Given the description of an element on the screen output the (x, y) to click on. 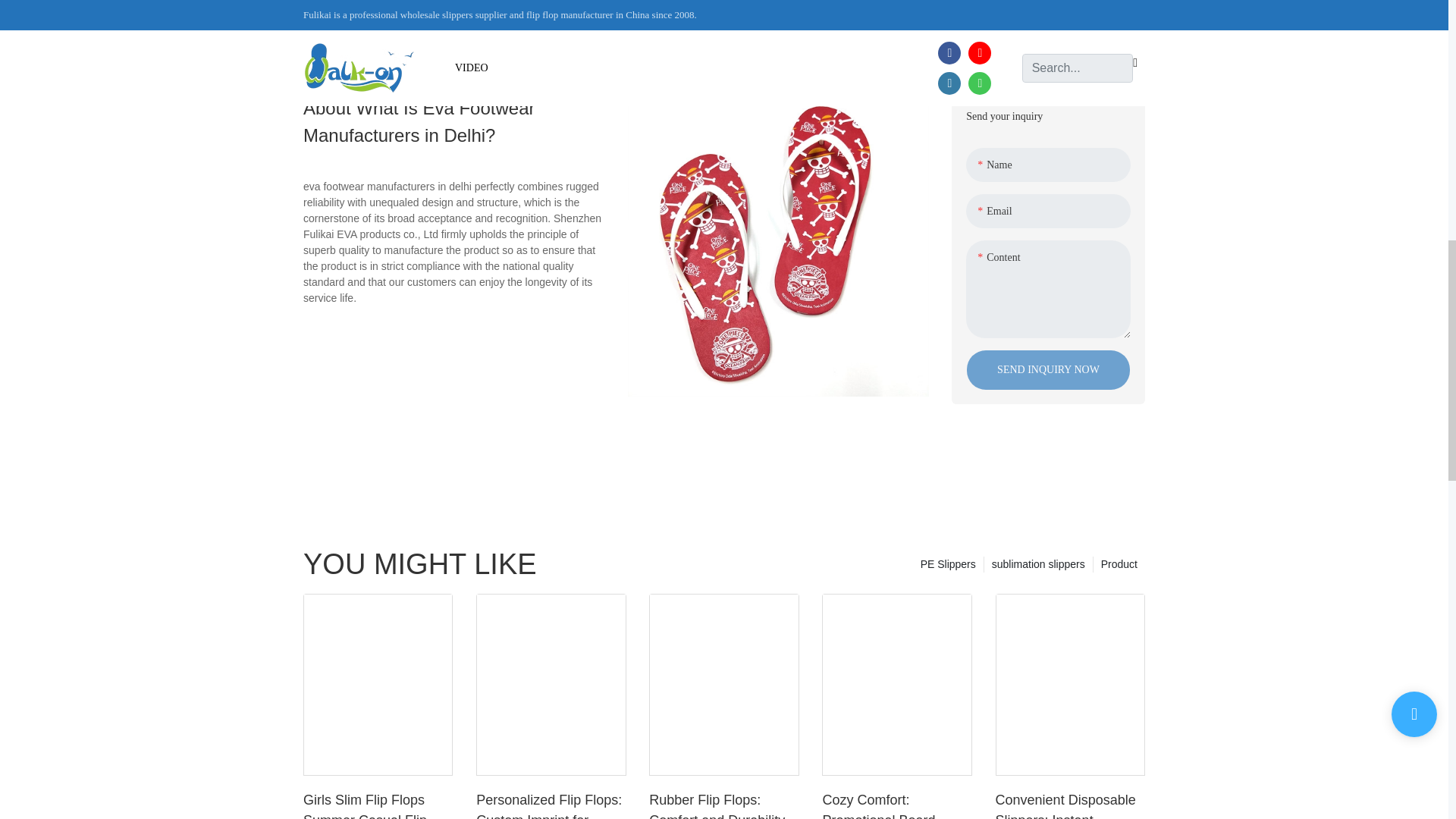
Product (1118, 564)
PE Slippers (948, 564)
PE Slippers (948, 564)
Product (1118, 564)
sublimation slippers (1038, 564)
sublimation slippers (1038, 564)
